Given the description of an element on the screen output the (x, y) to click on. 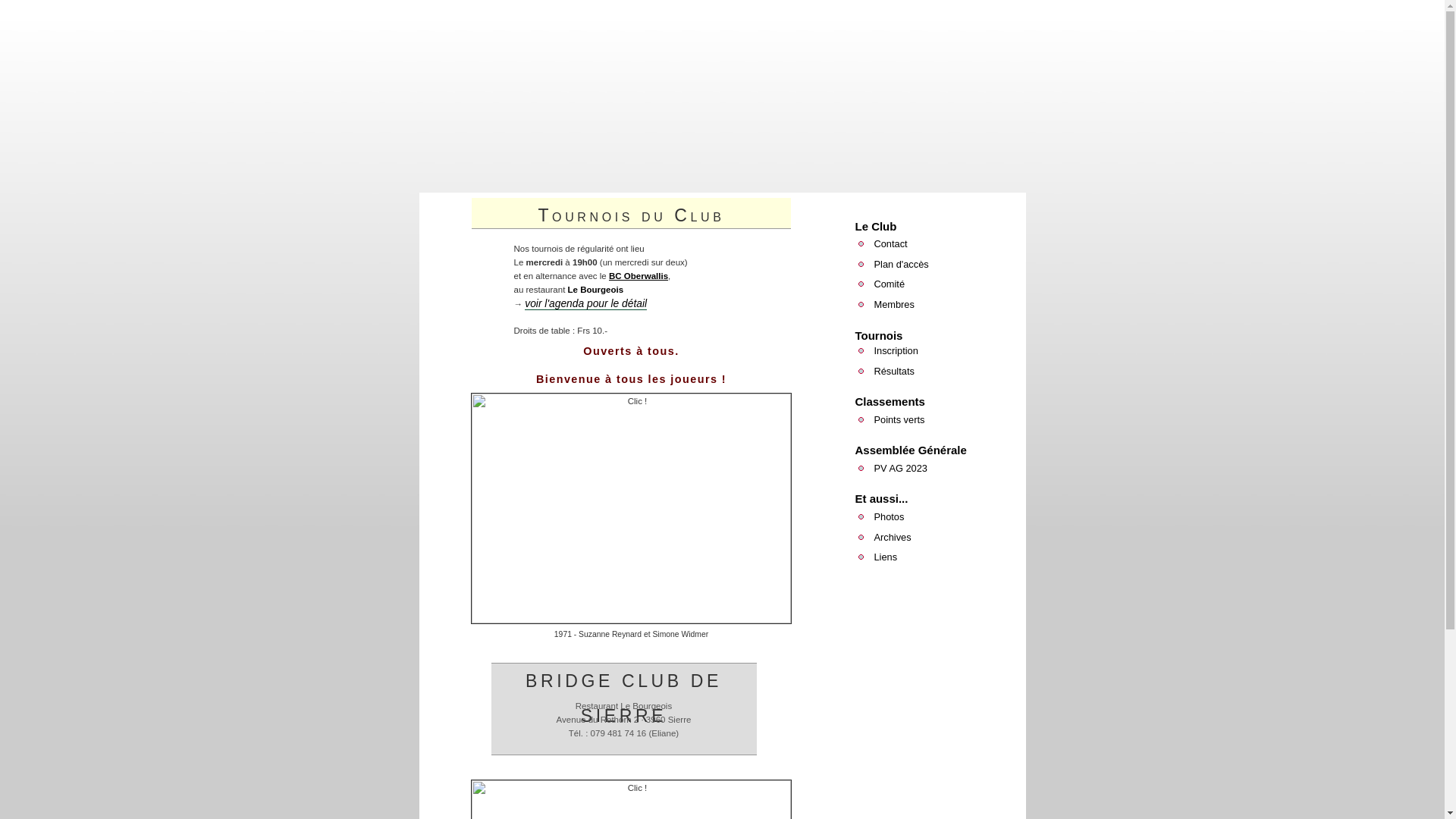
Archives Element type: text (891, 536)
 Clic !  Element type: hover (630, 508)
Le Bourgeois Element type: text (595, 289)
Membres Element type: text (893, 304)
Photos Element type: text (888, 516)
Inscription Element type: text (895, 350)
Points verts Element type: text (898, 419)
PV AG 2023 Element type: text (899, 467)
Contact Element type: text (889, 243)
Liens Element type: text (885, 556)
BC Oberwallis Element type: text (638, 275)
